Given the description of an element on the screen output the (x, y) to click on. 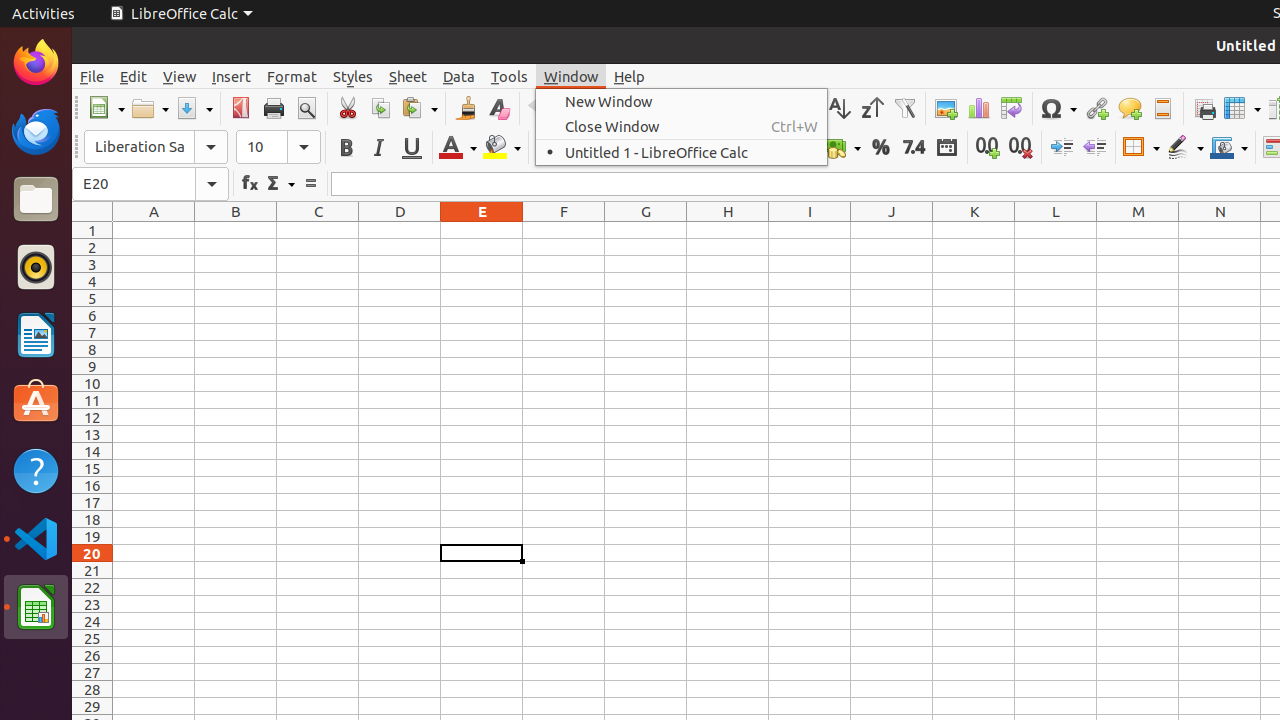
LibreOffice Calc Element type: menu (181, 13)
A1 Element type: table-cell (154, 230)
Format Element type: menu (292, 76)
Select Function Element type: push-button (280, 183)
Symbol Element type: push-button (1058, 108)
